Given the description of an element on the screen output the (x, y) to click on. 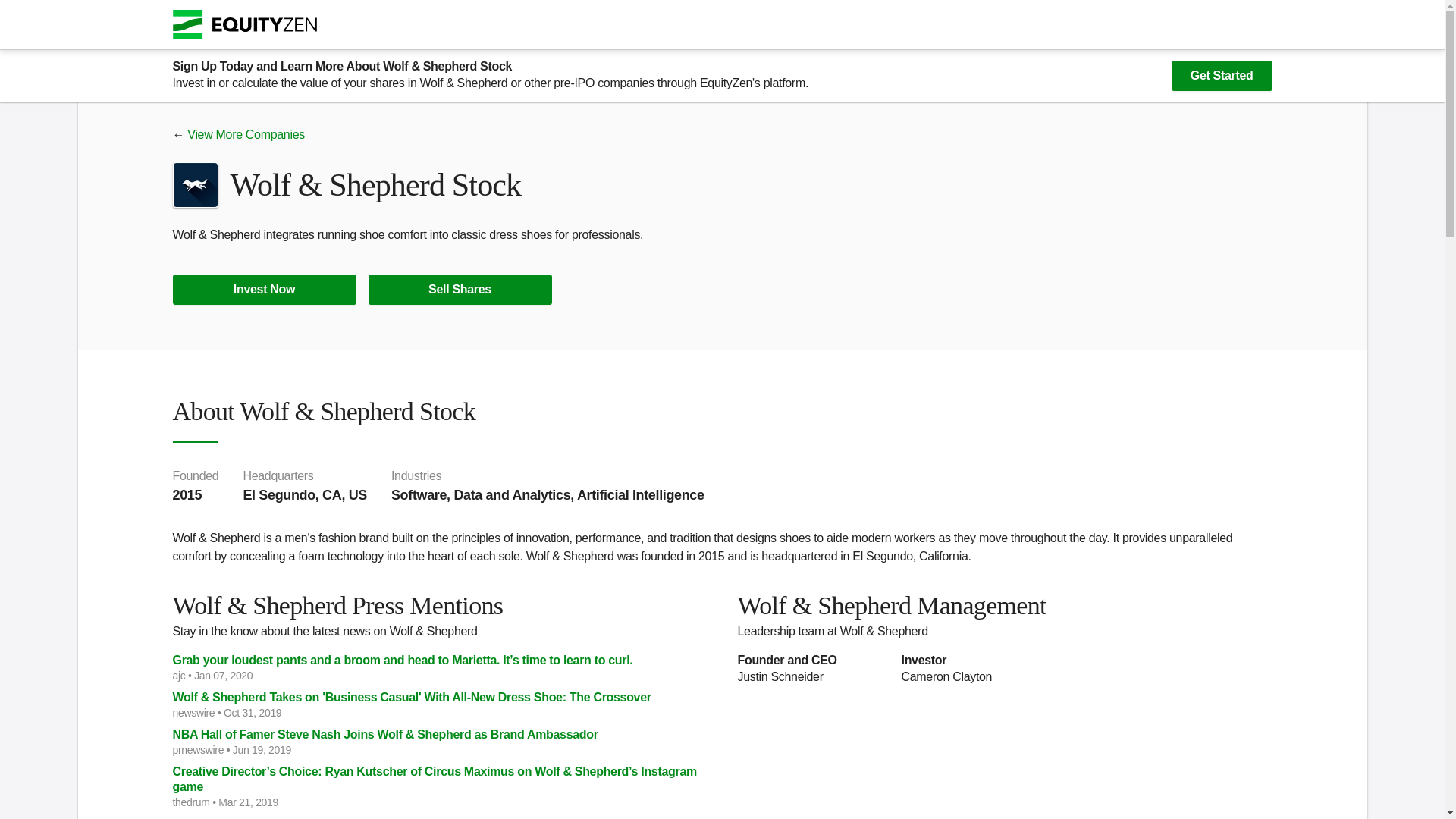
Get Started (1222, 75)
View More Companies (245, 133)
Sell Shares (459, 289)
Invest Now (264, 289)
